Given the description of an element on the screen output the (x, y) to click on. 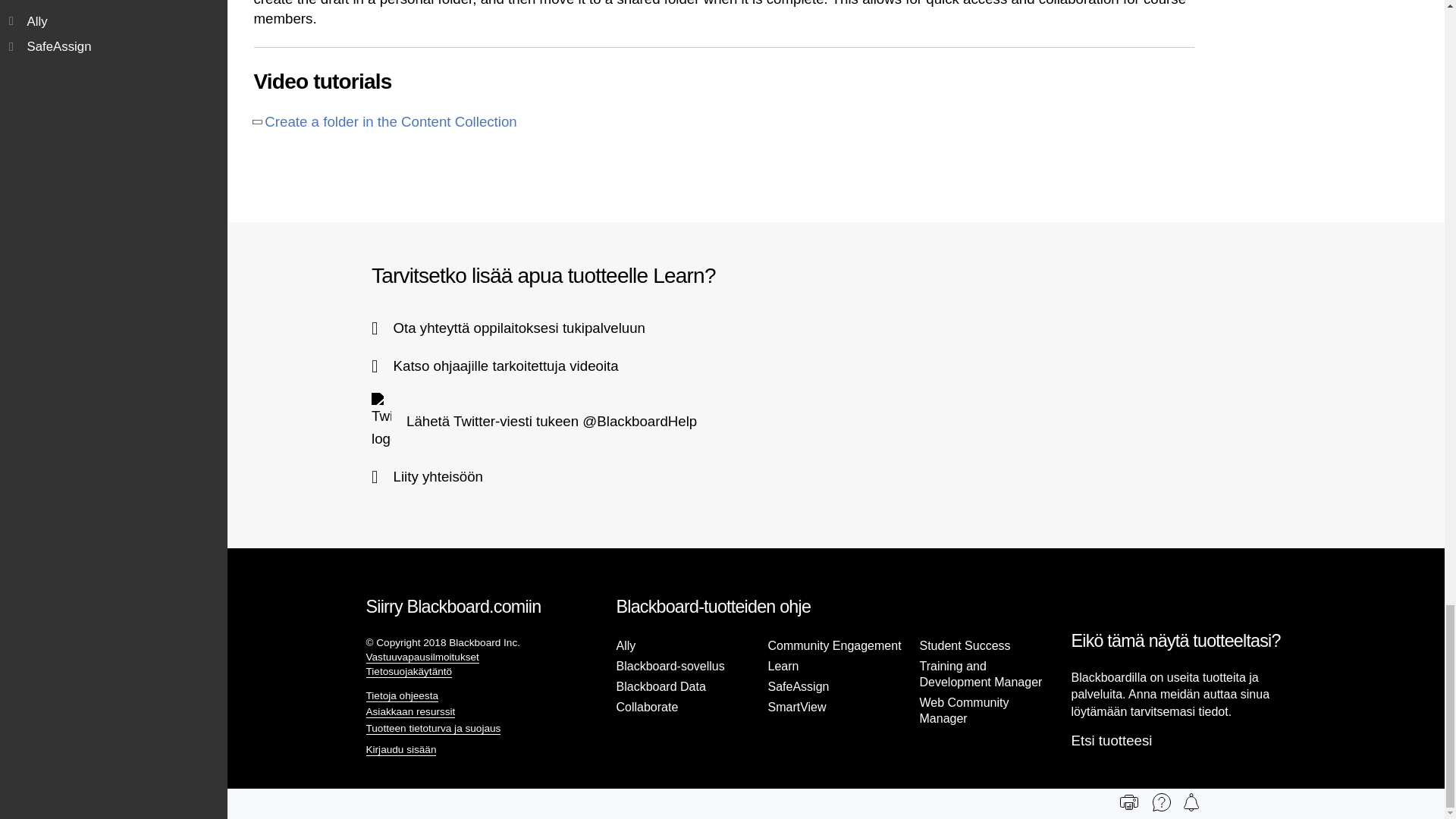
Create a folder in the Content Collection (390, 121)
